Given the description of an element on the screen output the (x, y) to click on. 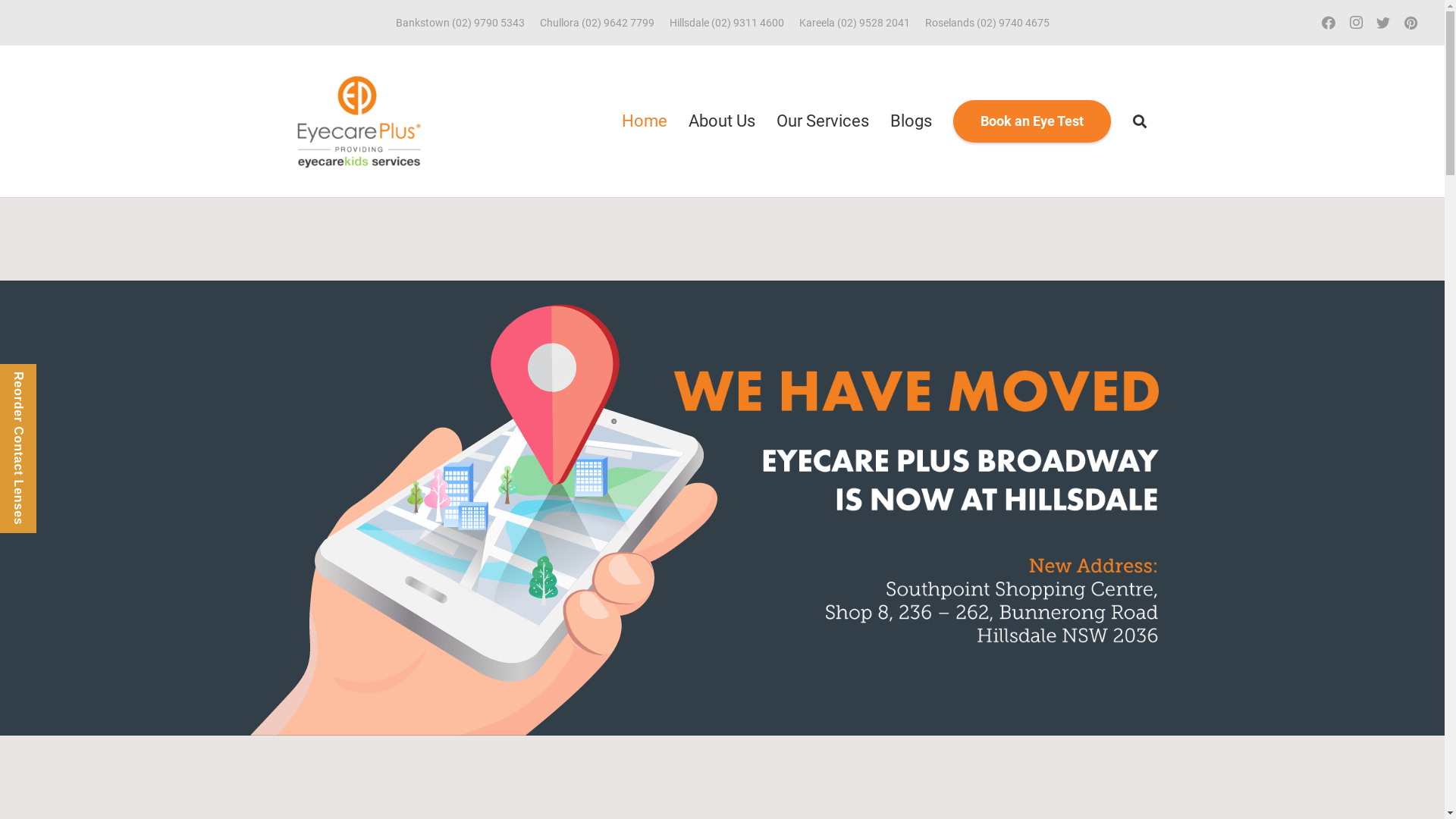
Blogs Element type: text (910, 121)
Home Element type: text (644, 121)
Roselands (02) 9740 4675 Element type: text (987, 22)
Bankstown (02) 9790 5343 Element type: text (459, 22)
Our Services Element type: text (822, 121)
Instagram Element type: hover (1355, 22)
About Us Element type: text (721, 121)
Hillsdale (02) 9311 4600 Element type: text (725, 22)
Chullora (02) 9642 7799 Element type: text (596, 22)
Facebook Element type: hover (1328, 22)
Twitter Element type: hover (1382, 22)
Pinterest Element type: hover (1410, 22)
Book an Eye Test Element type: text (1031, 120)
Submit Request Element type: text (543, 646)
Kareela (02) 9528 2041 Element type: text (854, 22)
